Given the description of an element on the screen output the (x, y) to click on. 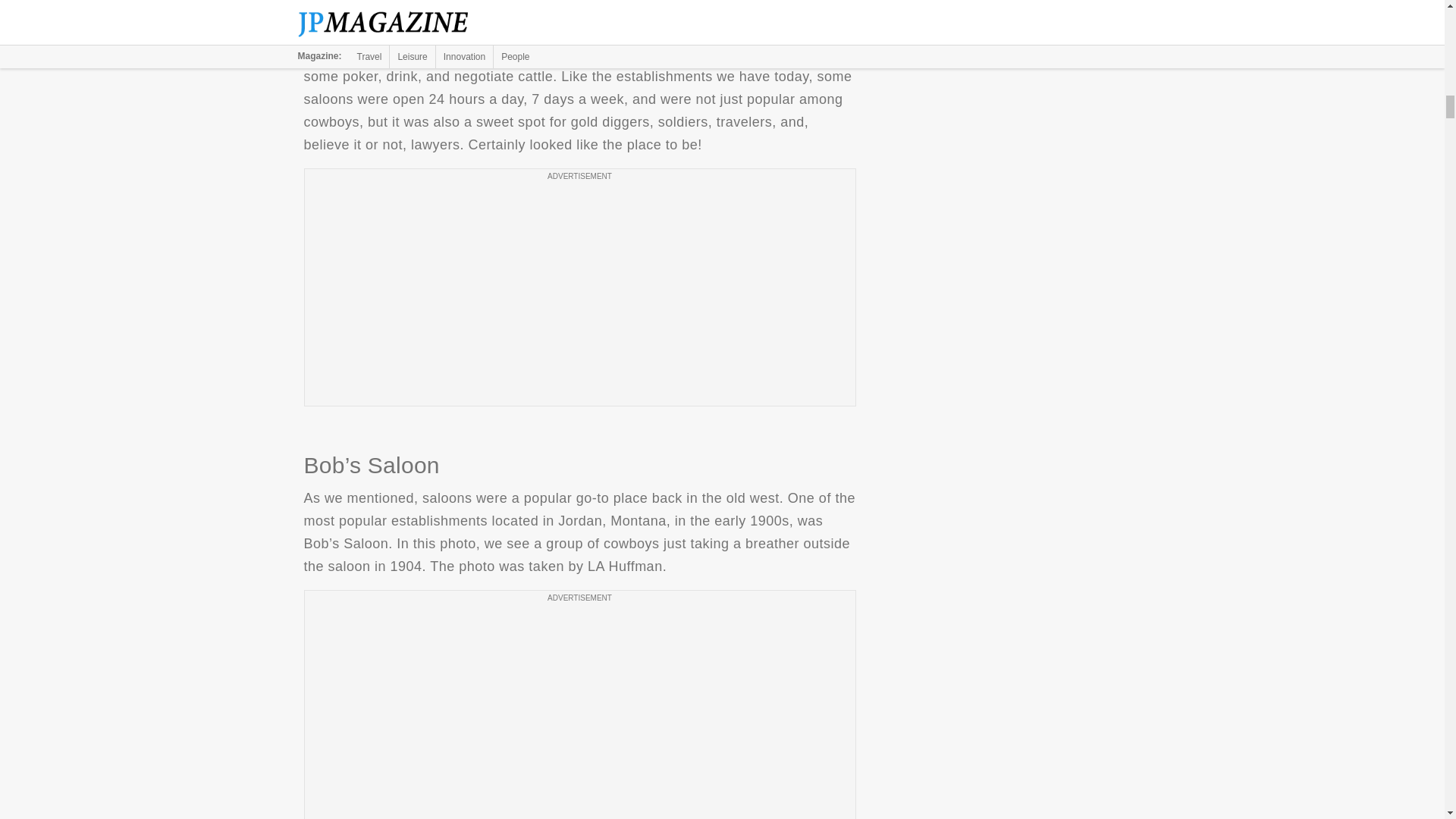
Old Tasacosa, Northern Texas (579, 8)
